Given the description of an element on the screen output the (x, y) to click on. 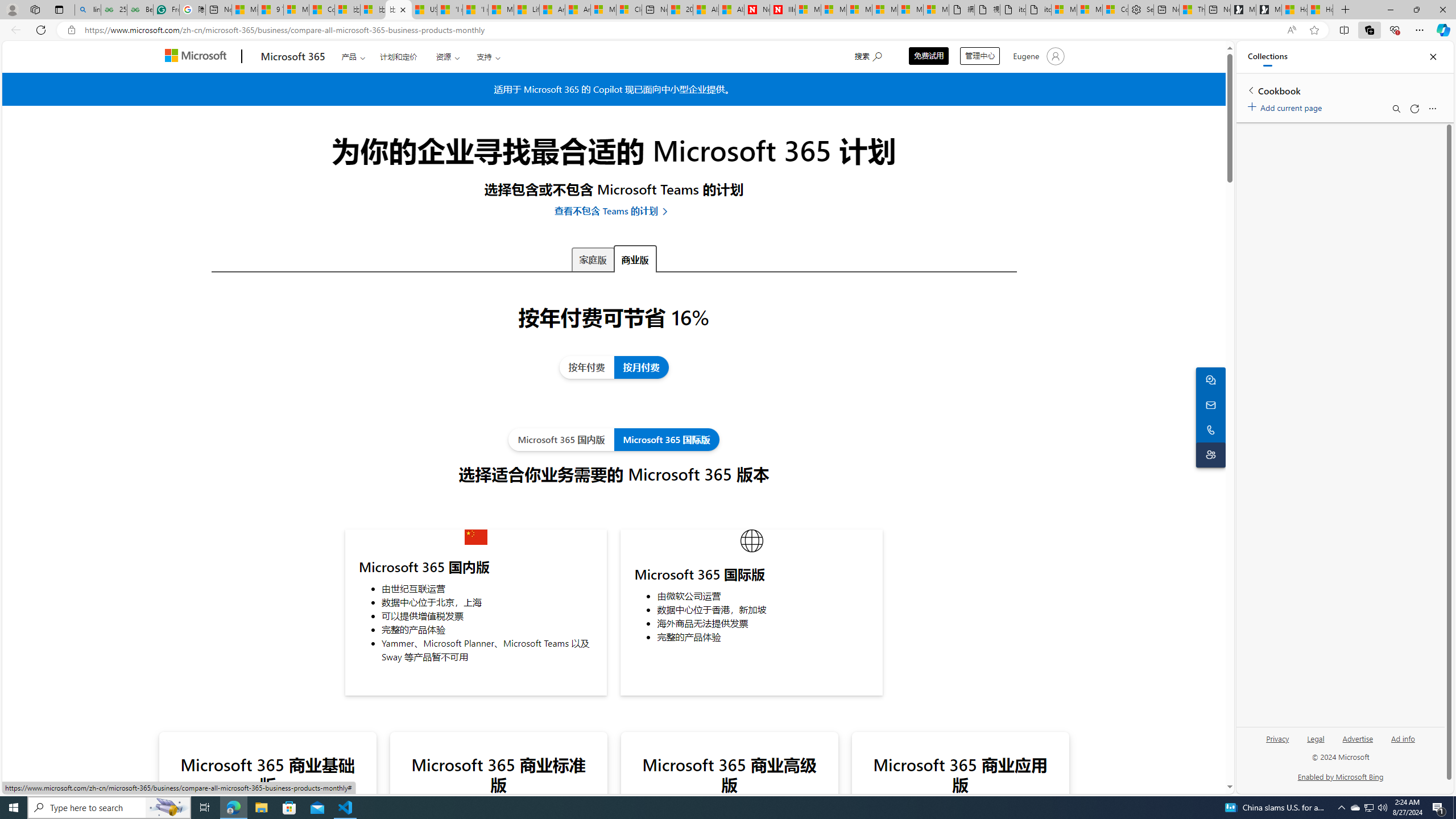
USA TODAY - MSN (424, 9)
